Given the description of an element on the screen output the (x, y) to click on. 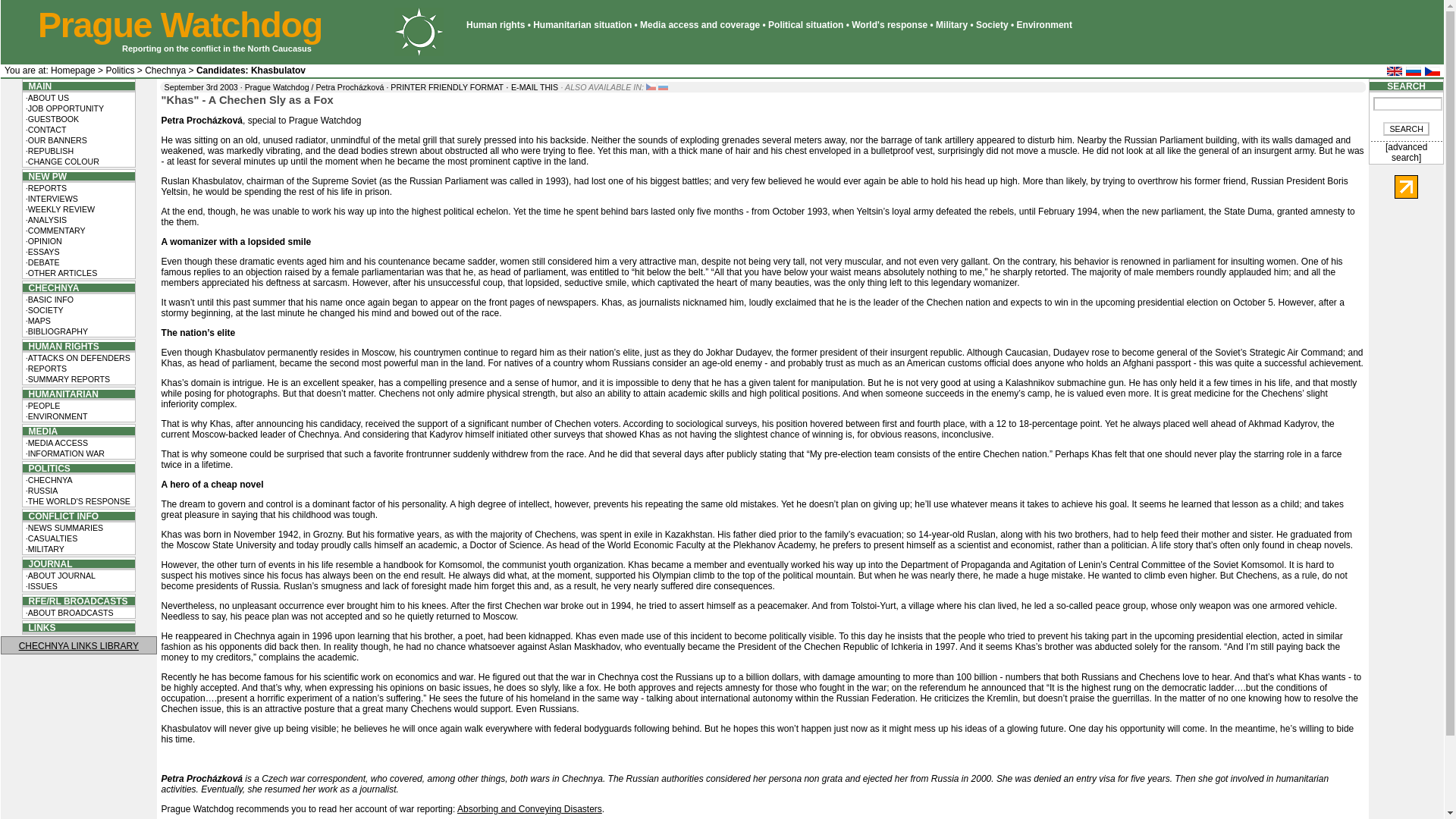
  MEDIA (40, 430)
  HUMANITARIAN (61, 393)
Politics (118, 70)
Chechnya (165, 70)
  NEW PW (44, 176)
LiveInternet (1406, 187)
Prague Watchdog (179, 24)
  MAIN (36, 85)
Homepage (73, 70)
SEARCH (1405, 128)
  HUMAN RIGHTS (61, 346)
  CHECHNYA (51, 286)
